Given the description of an element on the screen output the (x, y) to click on. 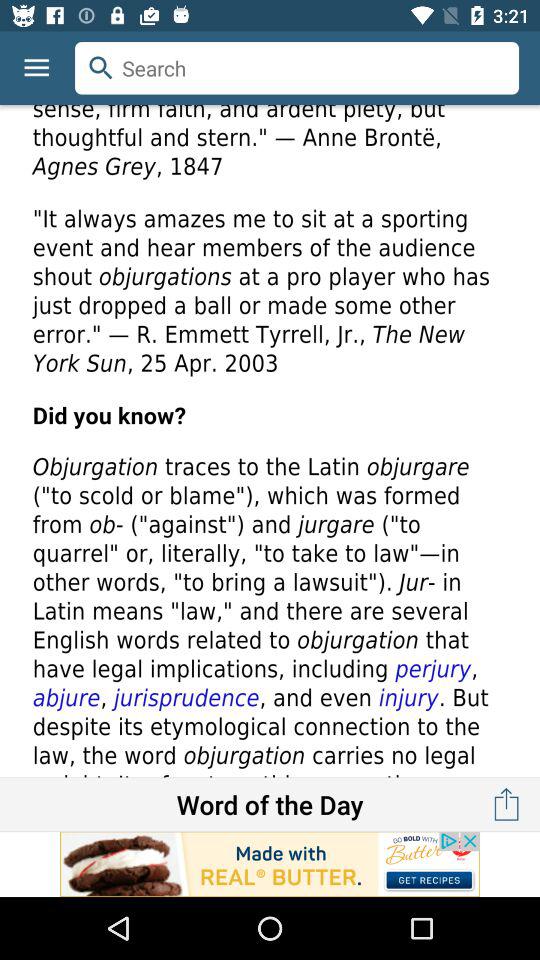
advertisement page (270, 864)
